Given the description of an element on the screen output the (x, y) to click on. 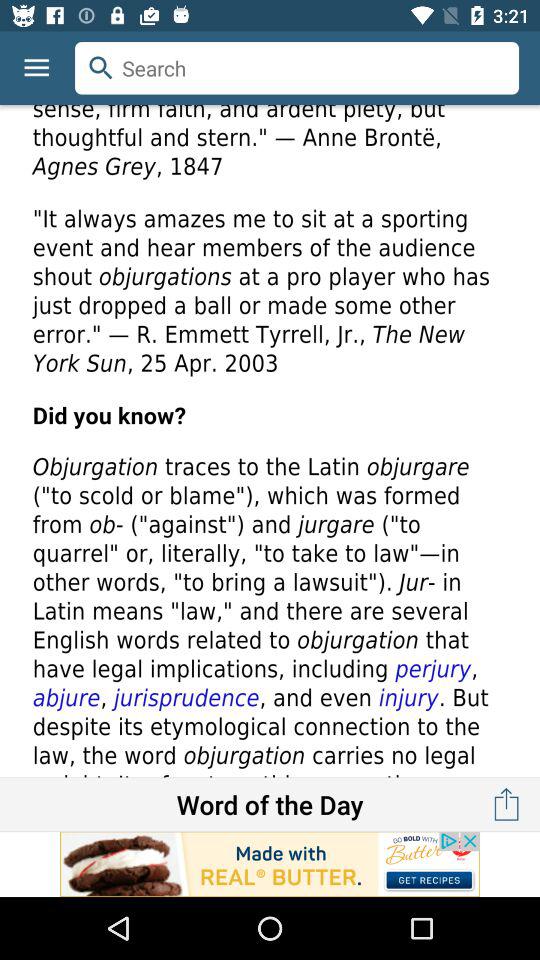
advertisement page (270, 864)
